Given the description of an element on the screen output the (x, y) to click on. 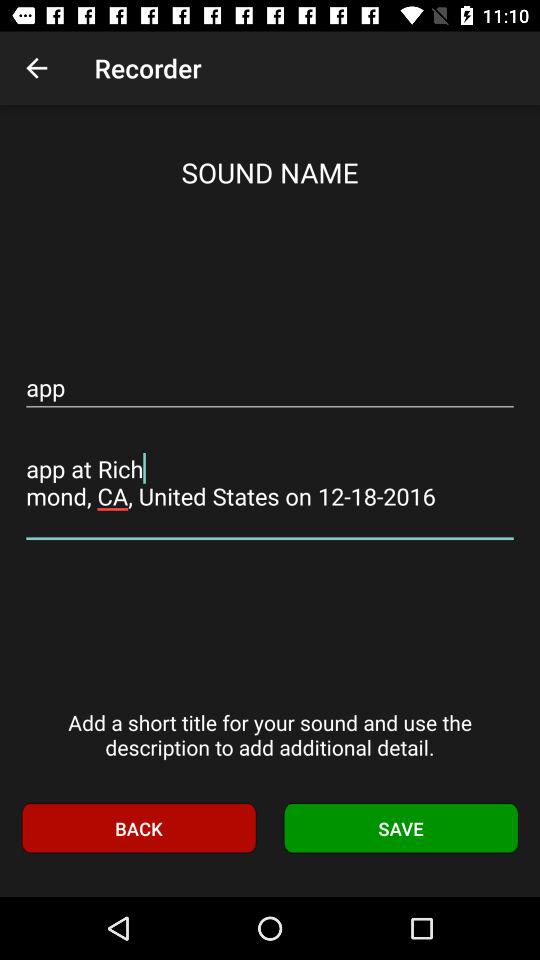
scroll to the app at rich item (270, 482)
